Given the description of an element on the screen output the (x, y) to click on. 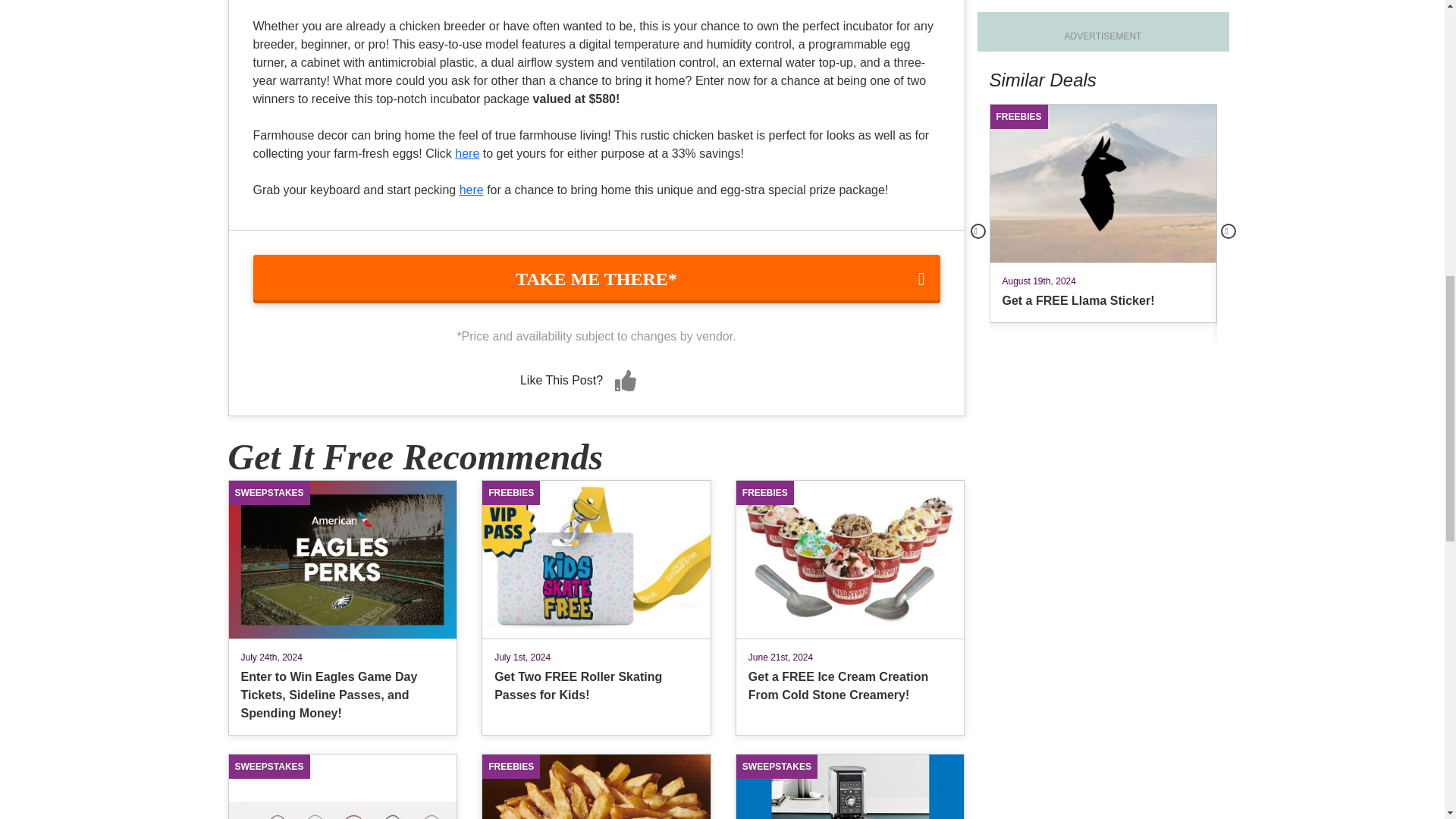
here (471, 189)
here (466, 153)
